Given the description of an element on the screen output the (x, y) to click on. 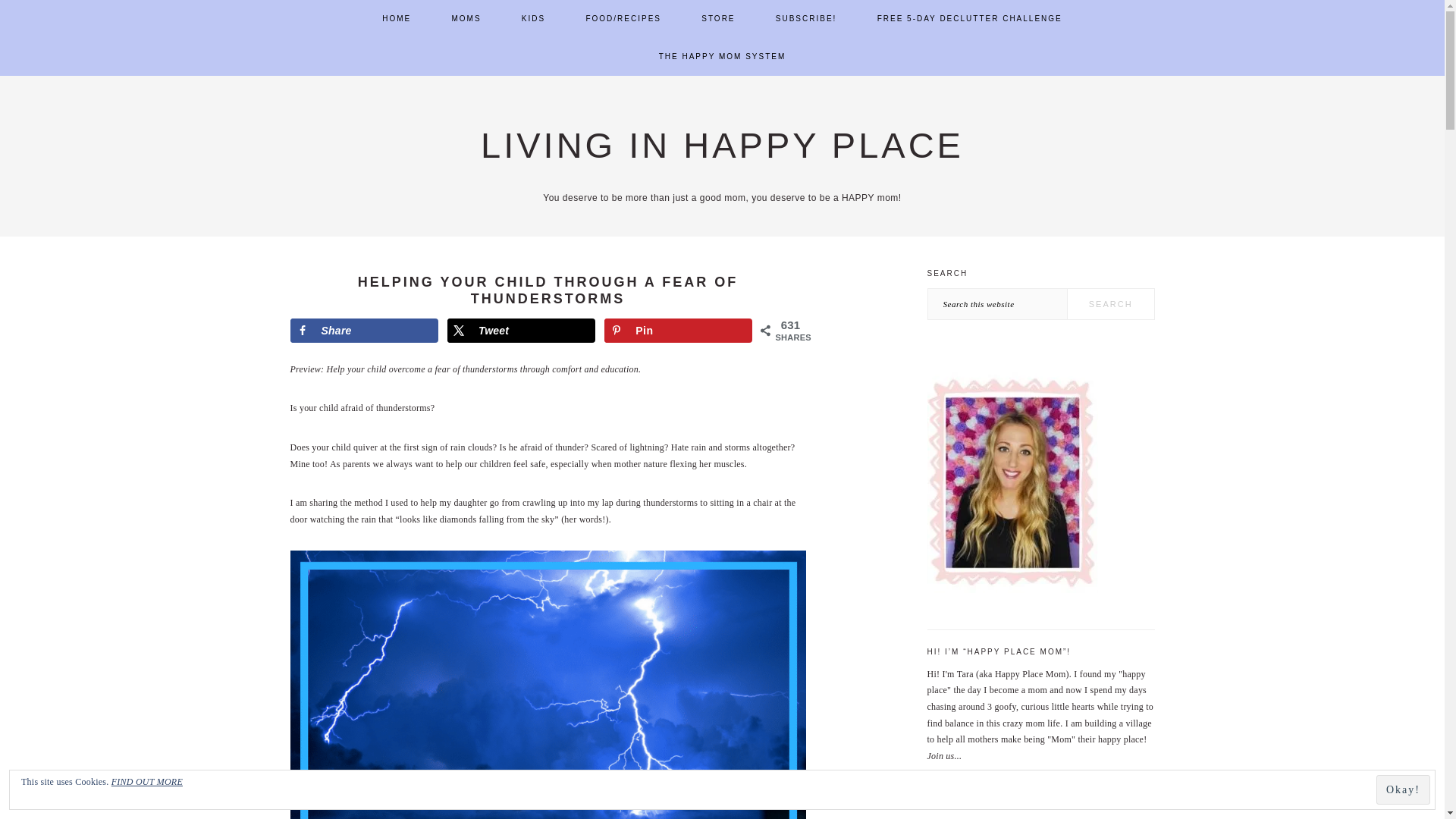
Search (1110, 304)
This site uses Cookies. FIND OUT MORE (721, 789)
HOME (395, 18)
Share on X (520, 330)
Pin (678, 330)
Save to Pinterest (678, 330)
SUBSCRIBE! (806, 18)
Search (1110, 304)
Share on Facebook (363, 330)
FREE 5-DAY DECLUTTER CHALLENGE (970, 18)
MOMS (465, 18)
THE HAPPY MOM SYSTEM (722, 56)
Share (363, 330)
Tweet (520, 330)
